Given the description of an element on the screen output the (x, y) to click on. 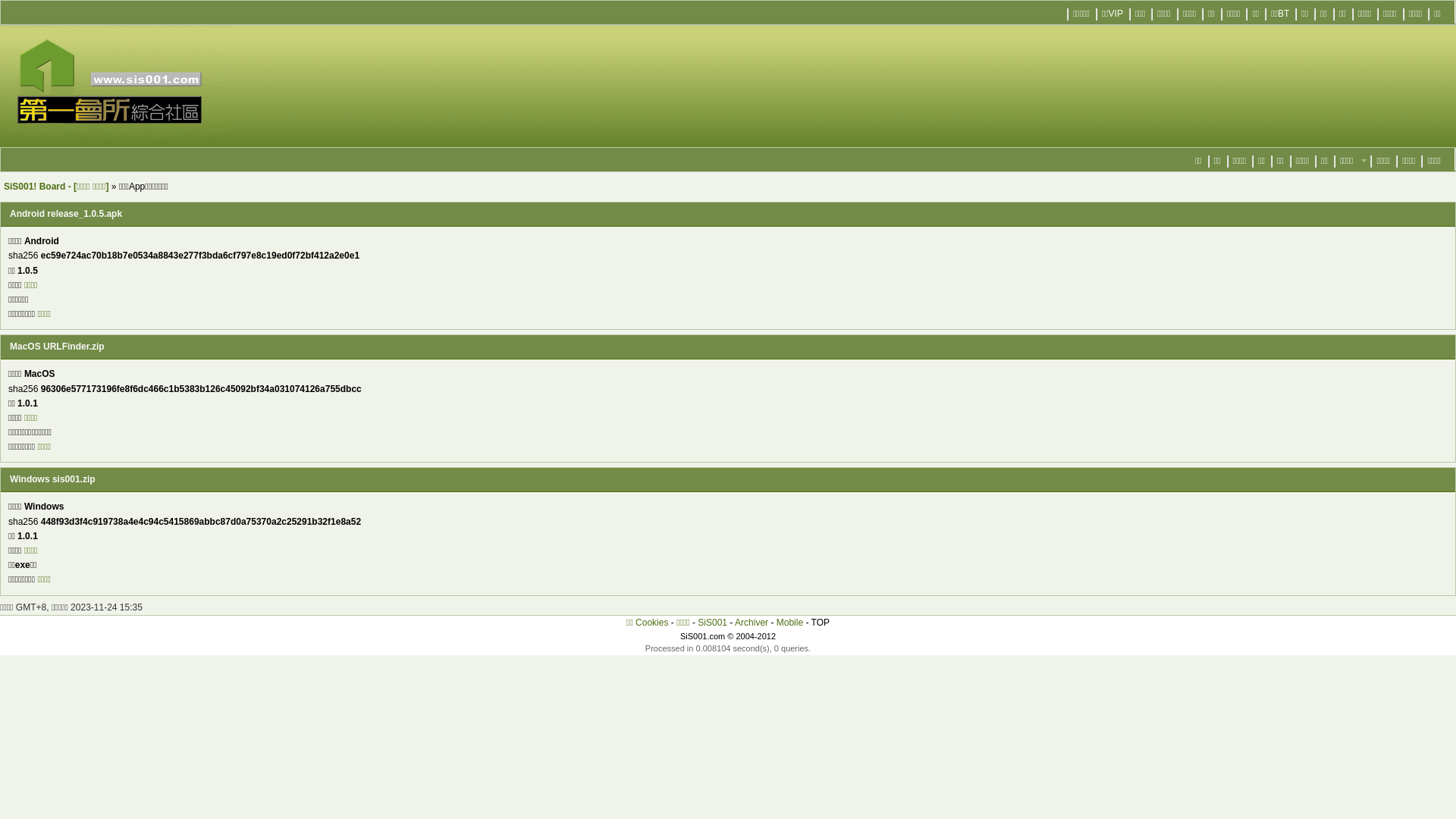
Mobile Element type: text (789, 622)
SiS001 Element type: text (712, 622)
TOP Element type: text (820, 622)
Archiver Element type: text (751, 622)
